Given the description of an element on the screen output the (x, y) to click on. 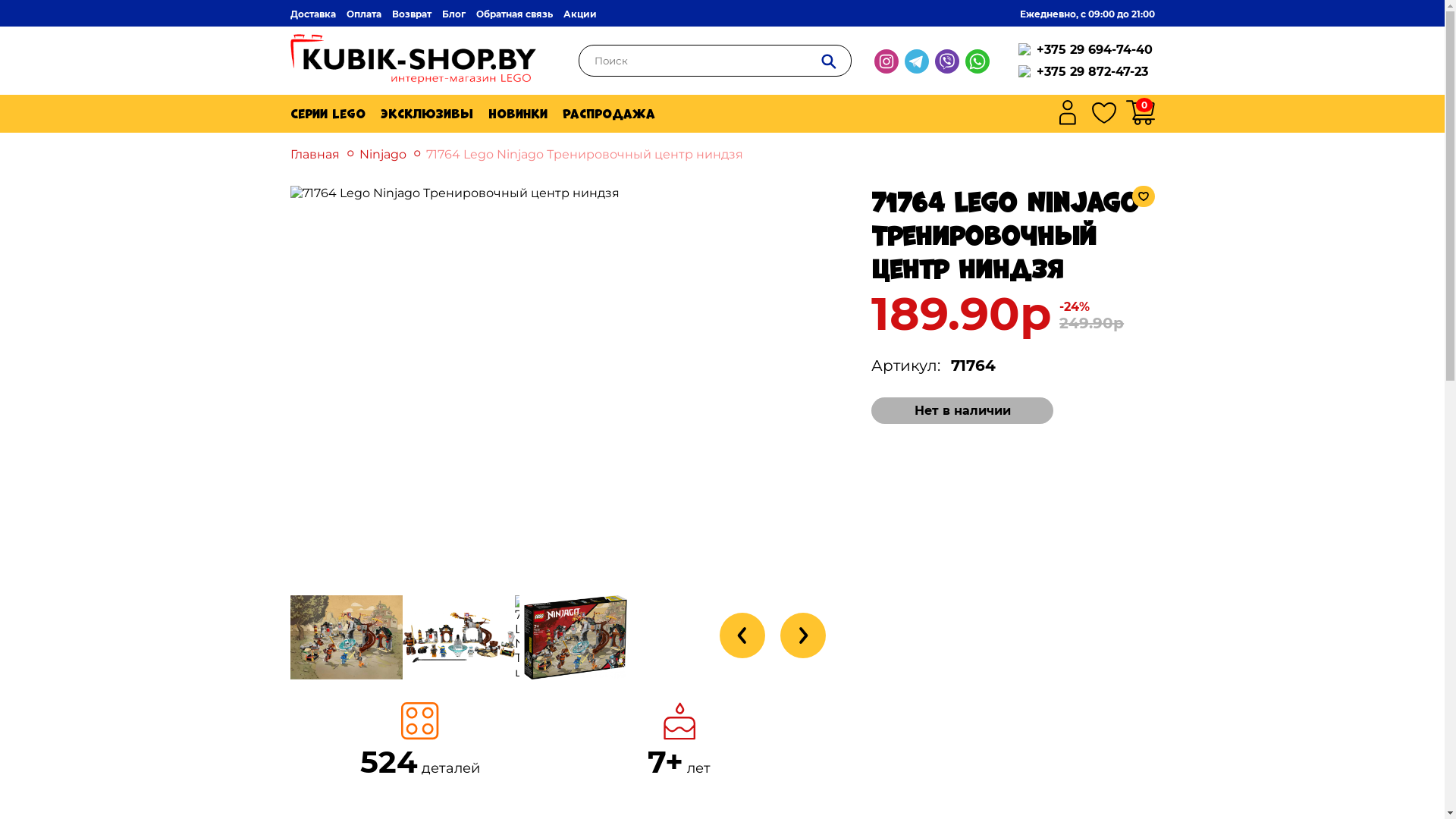
0 Element type: text (1143, 104)
+375 29 872-47-23 Element type: text (1091, 71)
Ninjago Element type: text (375, 154)
0 Element type: text (1139, 113)
+375 29 694-74-40 Element type: text (1093, 49)
